Given the description of an element on the screen output the (x, y) to click on. 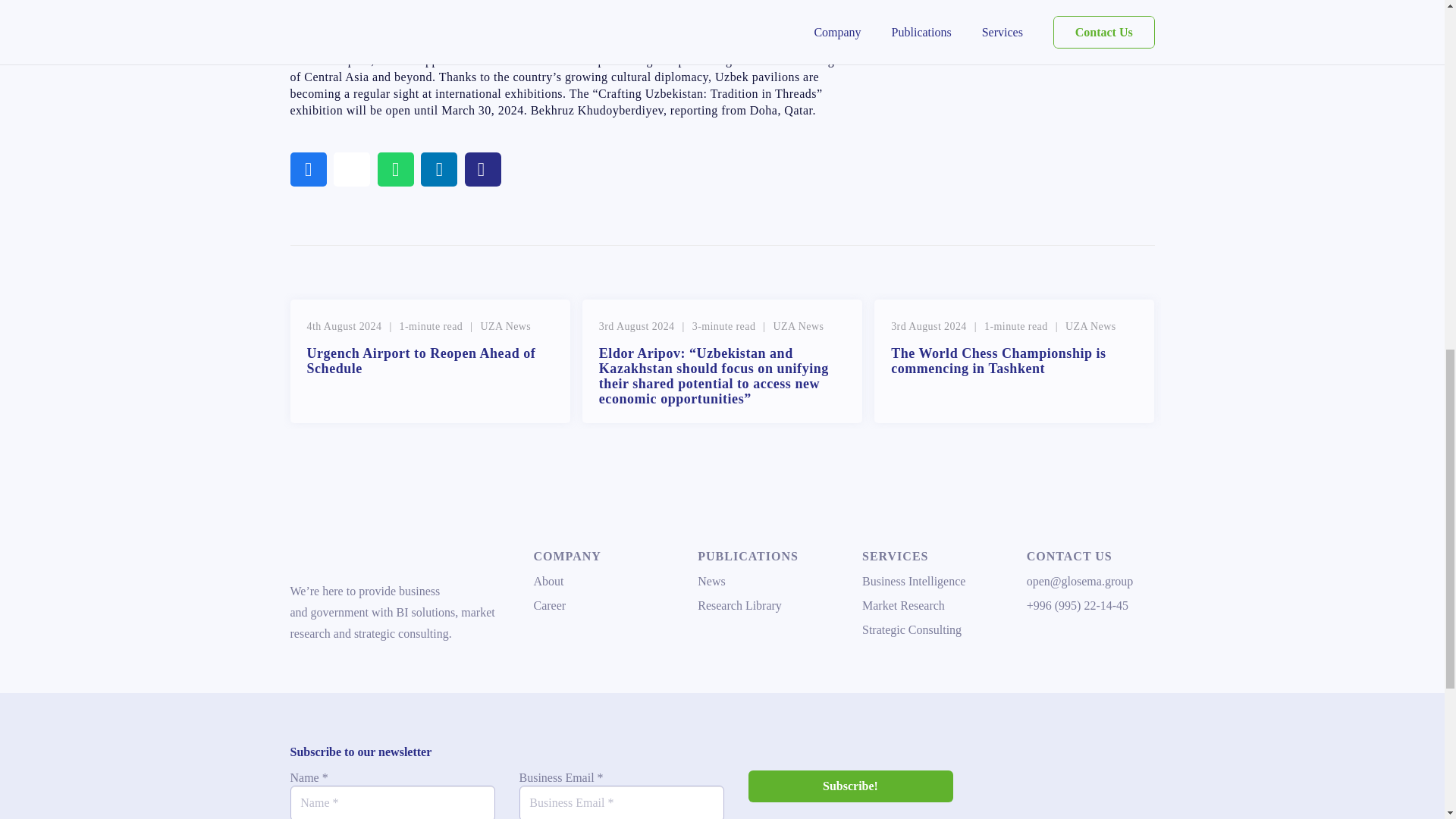
Share this (438, 169)
Business Email (620, 802)
Urgench Airport to Reopen Ahead of Schedule (420, 360)
The World Chess Championship is commencing in Tashkent (998, 360)
Share this (307, 169)
UZA News (505, 326)
Email this (351, 169)
UZA News (798, 326)
Share this (395, 169)
UZA News (1090, 326)
Back to top (1413, 30)
Name (392, 802)
